Given the description of an element on the screen output the (x, y) to click on. 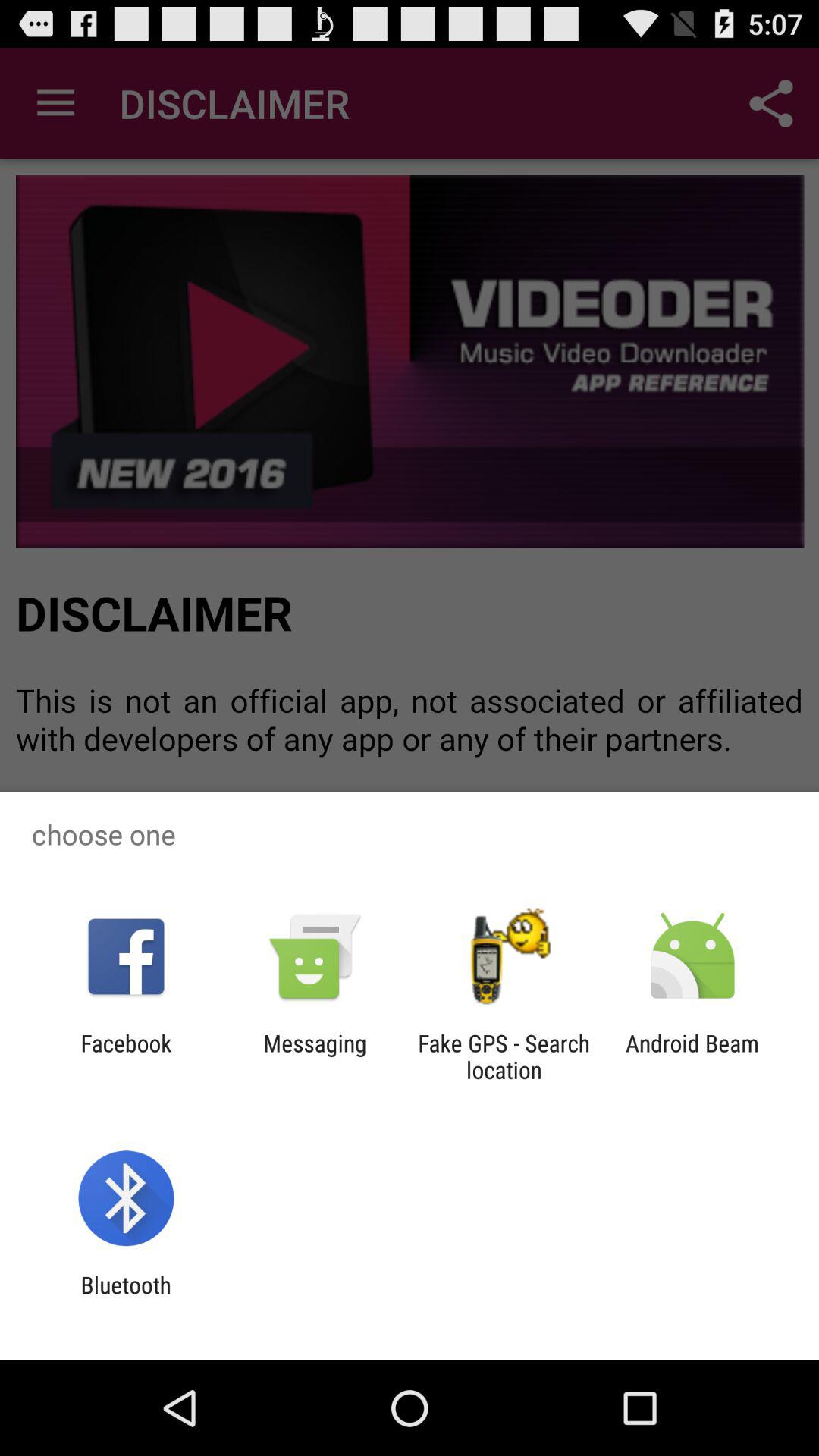
open android beam icon (692, 1056)
